Given the description of an element on the screen output the (x, y) to click on. 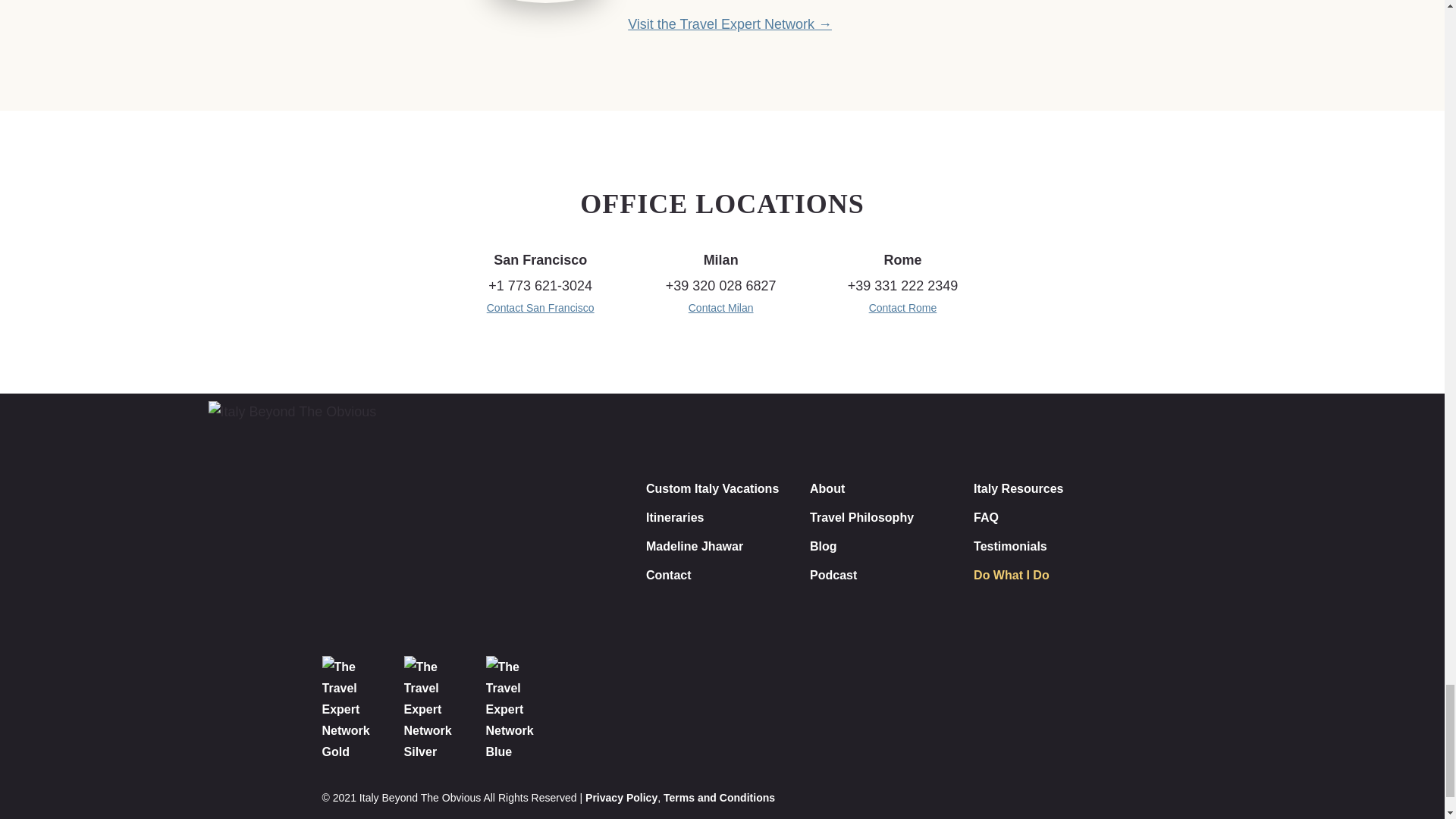
Visit Us On LinkedIn (1101, 727)
Custom Italy Vacations (712, 487)
Contact Milan (721, 307)
Italy Resources (1018, 487)
About (826, 487)
Contact Rome (903, 307)
Contact San Francisco (540, 307)
Itineraries (675, 516)
Like Us On Facebook (1049, 727)
Follow Us On Instagram (996, 727)
